Given the description of an element on the screen output the (x, y) to click on. 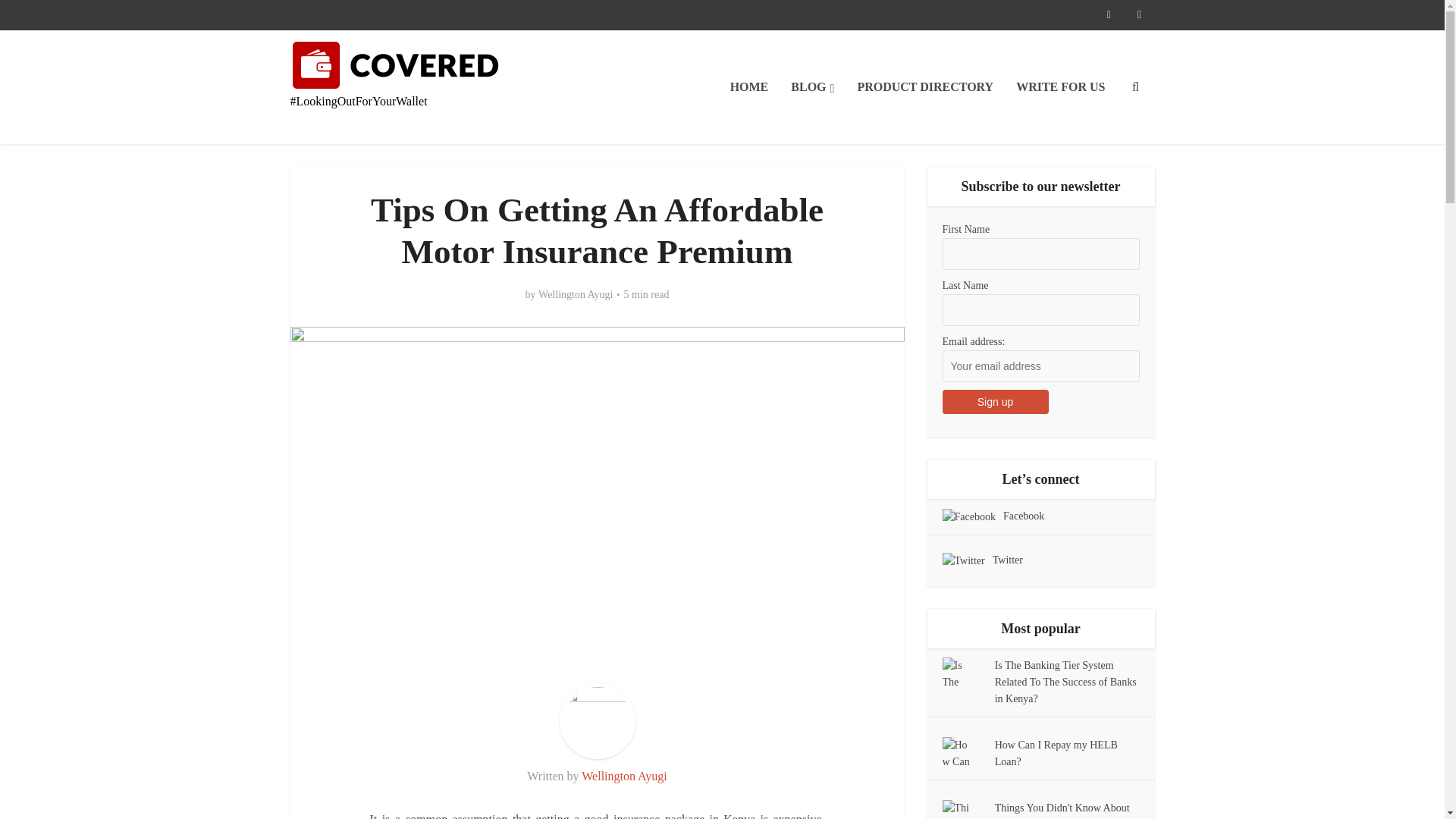
Twitter (963, 560)
Sign up (995, 401)
PRODUCT DIRECTORY (924, 87)
Covered -  Looking out for your wallet (395, 64)
Twitter (982, 559)
Things You Didn't Know About Education Insurance Policies (1061, 810)
Facebook (968, 516)
Sign up (995, 401)
Wellington Ayugi (623, 775)
